Given the description of an element on the screen output the (x, y) to click on. 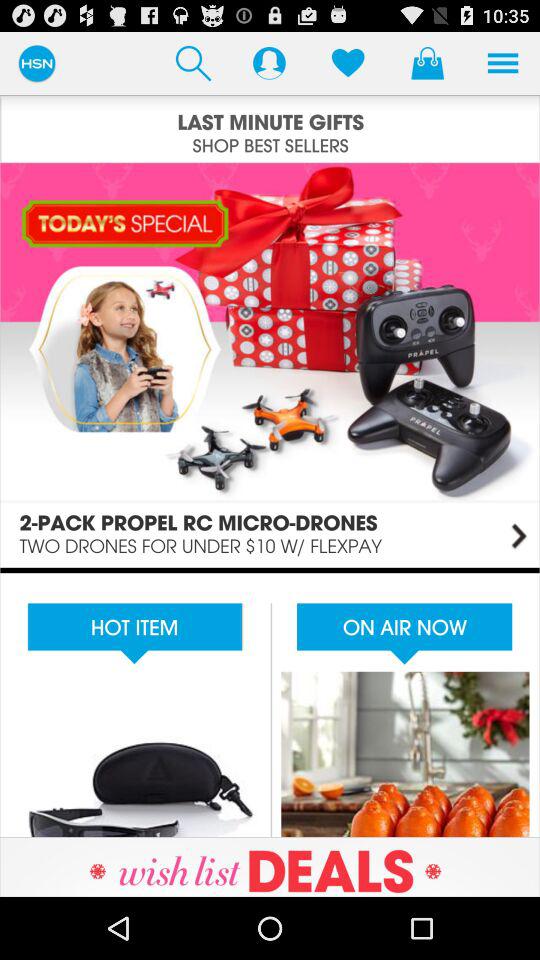
clicks the hot items (269, 702)
